Given the description of an element on the screen output the (x, y) to click on. 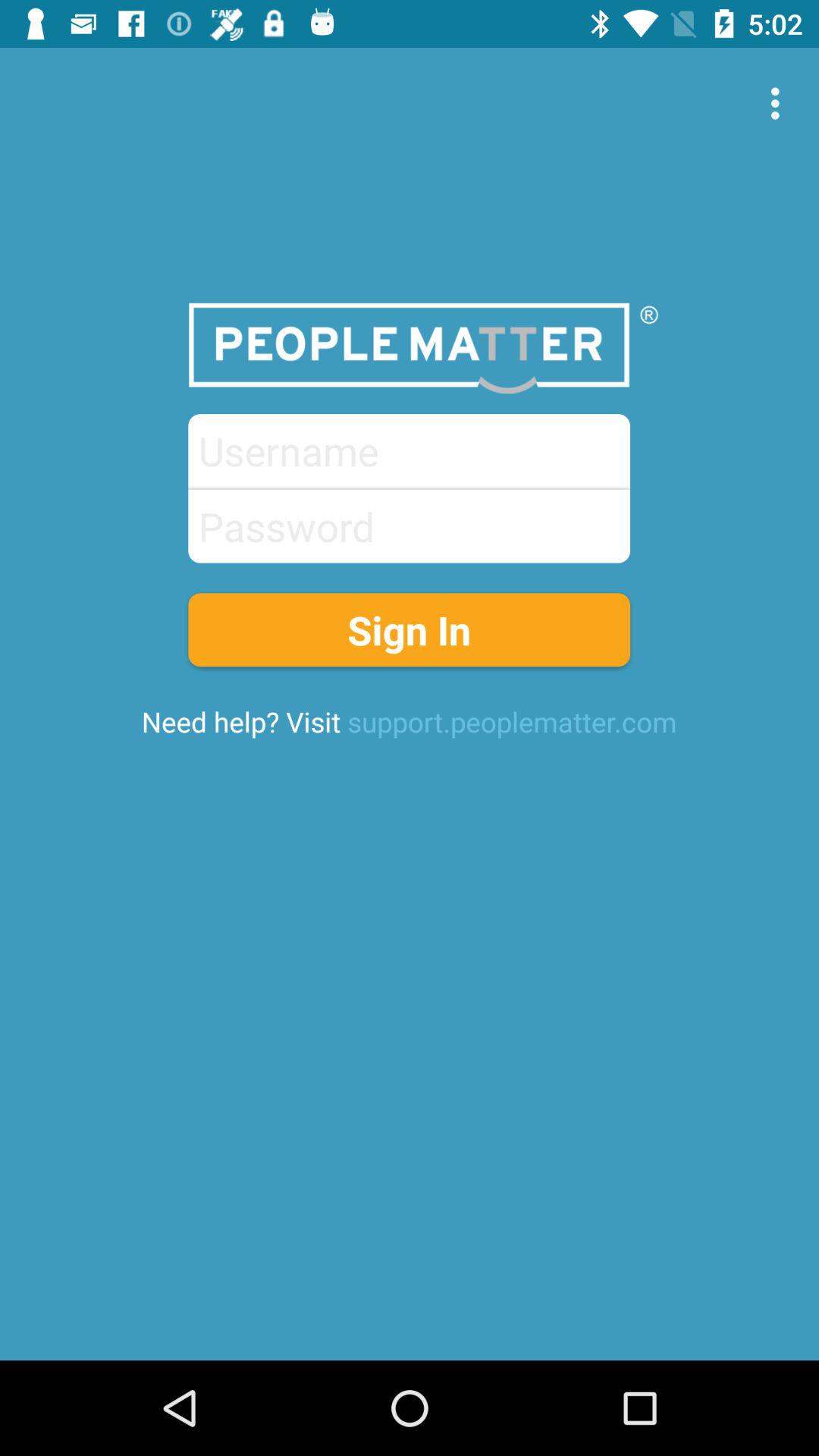
jump until the sign in icon (409, 629)
